Given the description of an element on the screen output the (x, y) to click on. 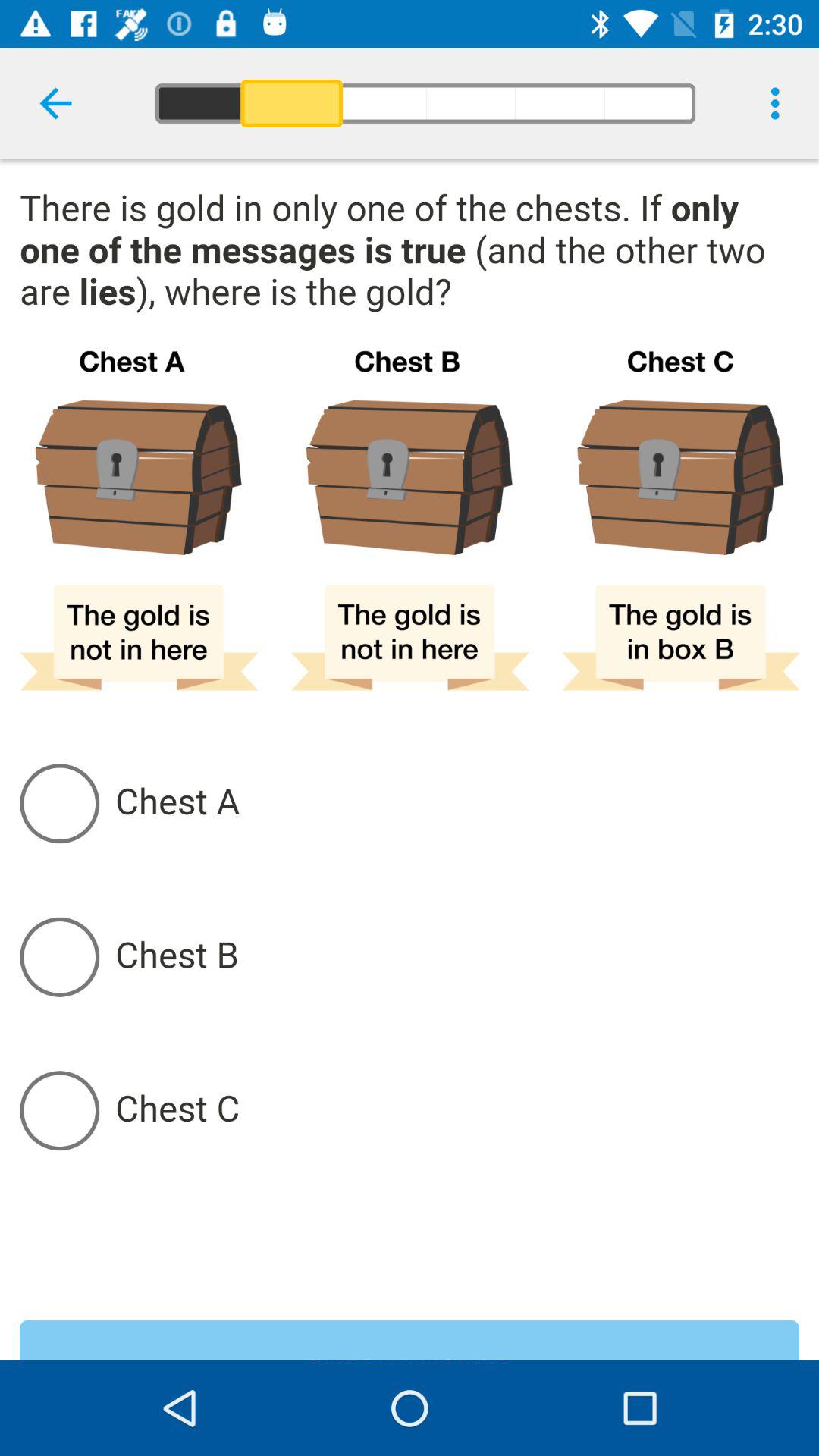
chest a (457, 803)
